Given the description of an element on the screen output the (x, y) to click on. 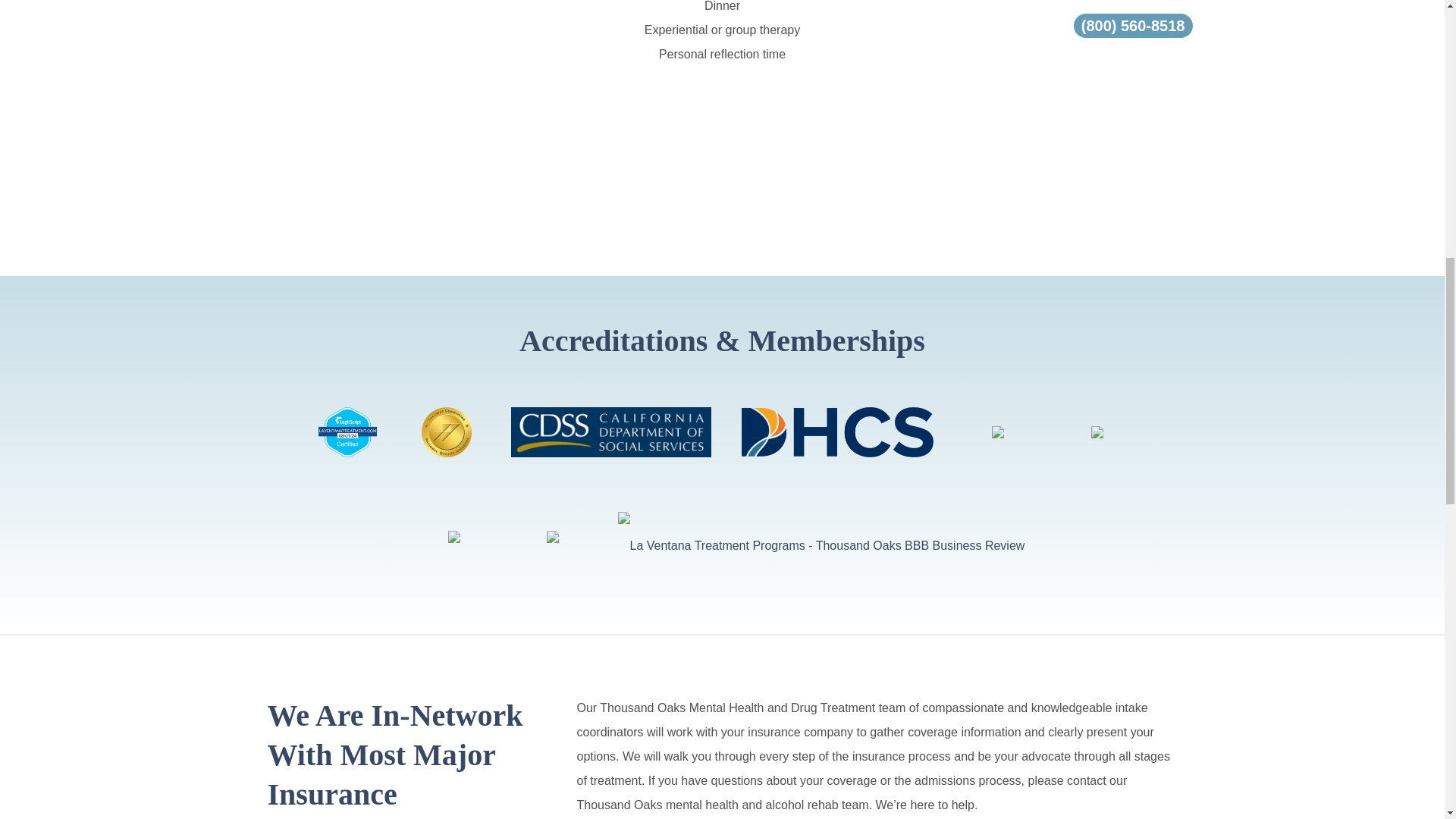
Verify LegitScript Approval (347, 431)
